Given the description of an element on the screen output the (x, y) to click on. 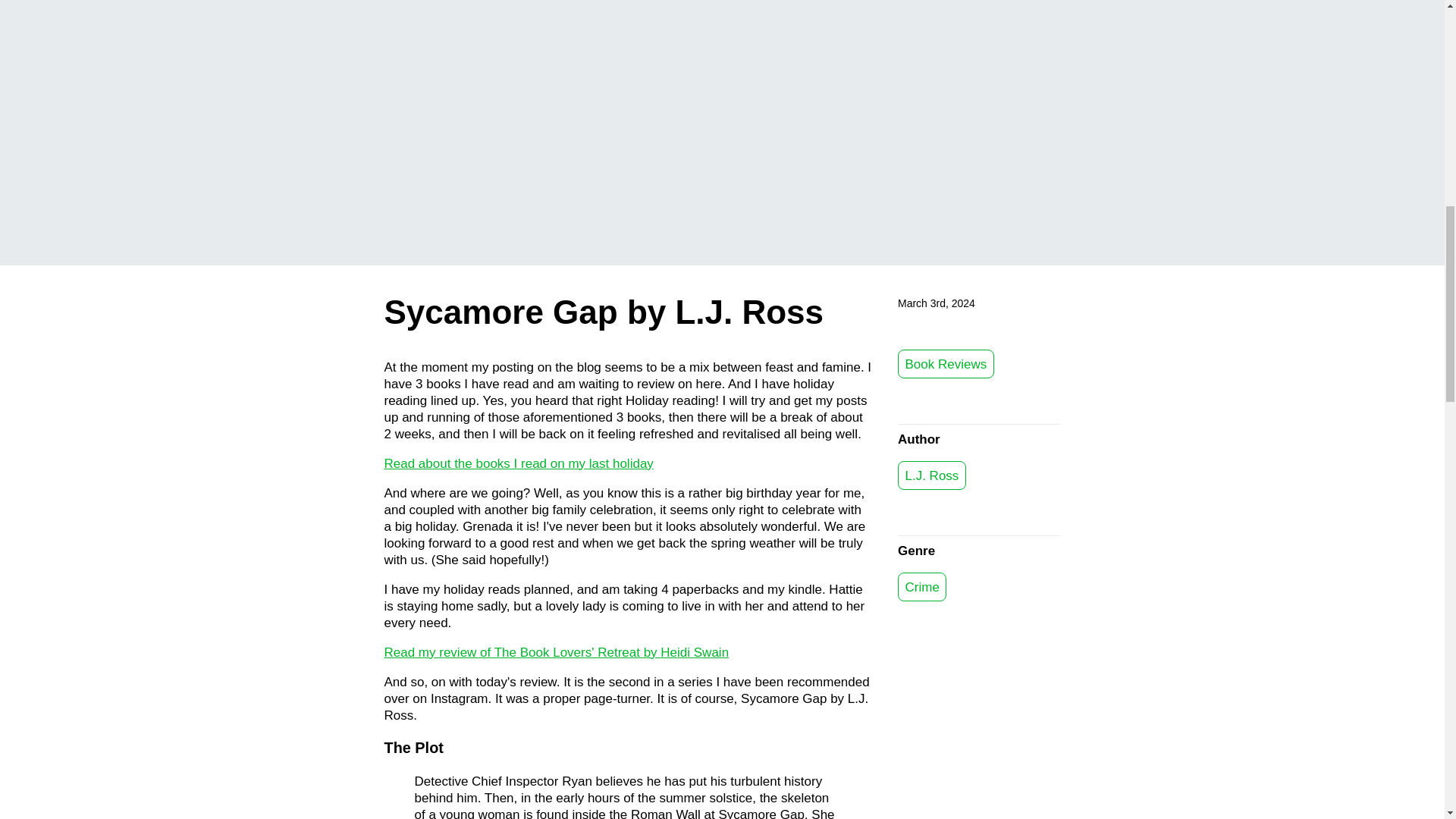
Read my review of The Book Lovers' Retreat by Heidi Swain (556, 651)
Book Reviews (946, 363)
Read about the books I read on my last holiday (518, 463)
Crime (922, 586)
L.J. Ross (932, 475)
